Given the description of an element on the screen output the (x, y) to click on. 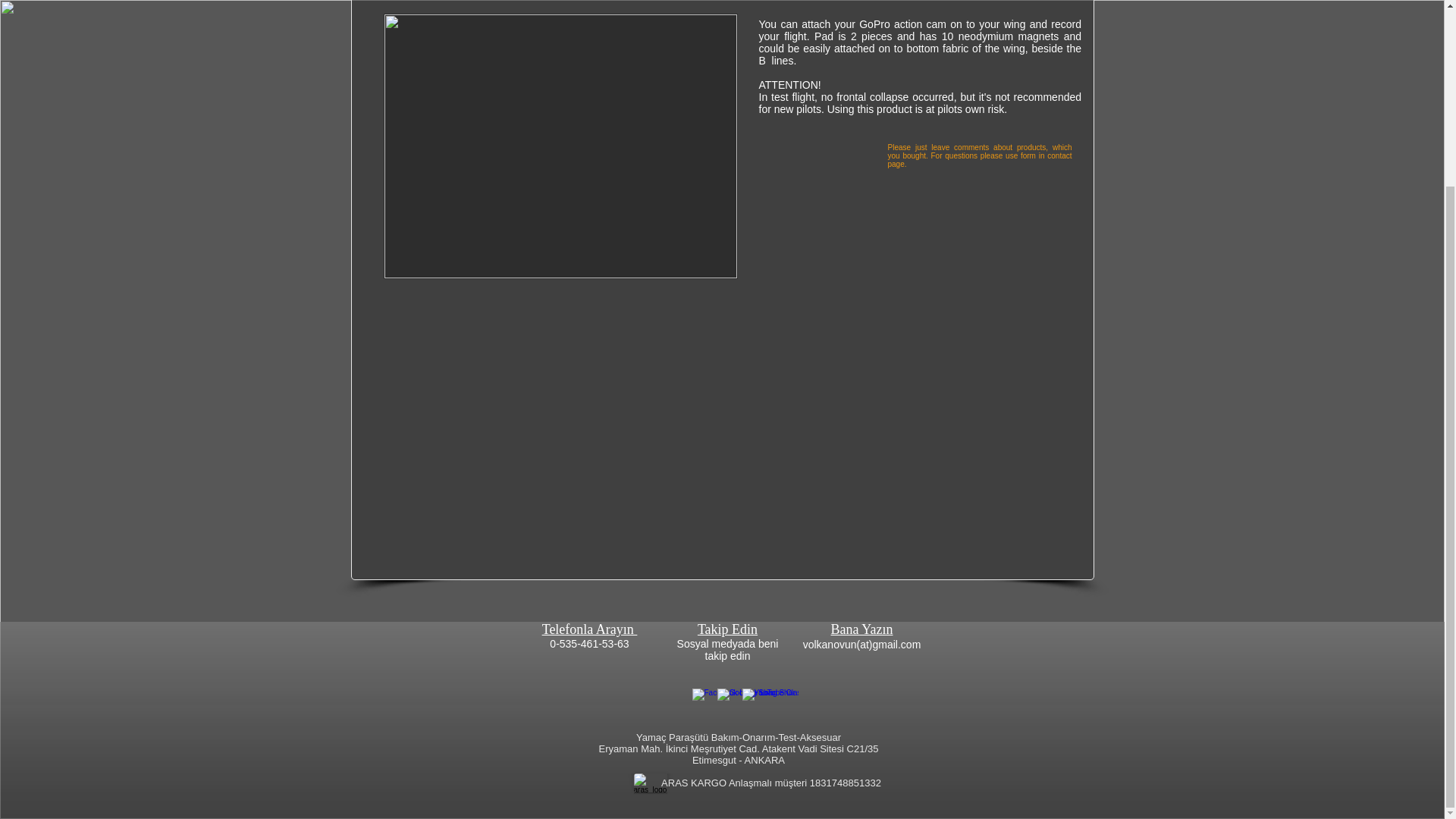
External YouTube (561, 426)
